Given the description of an element on the screen output the (x, y) to click on. 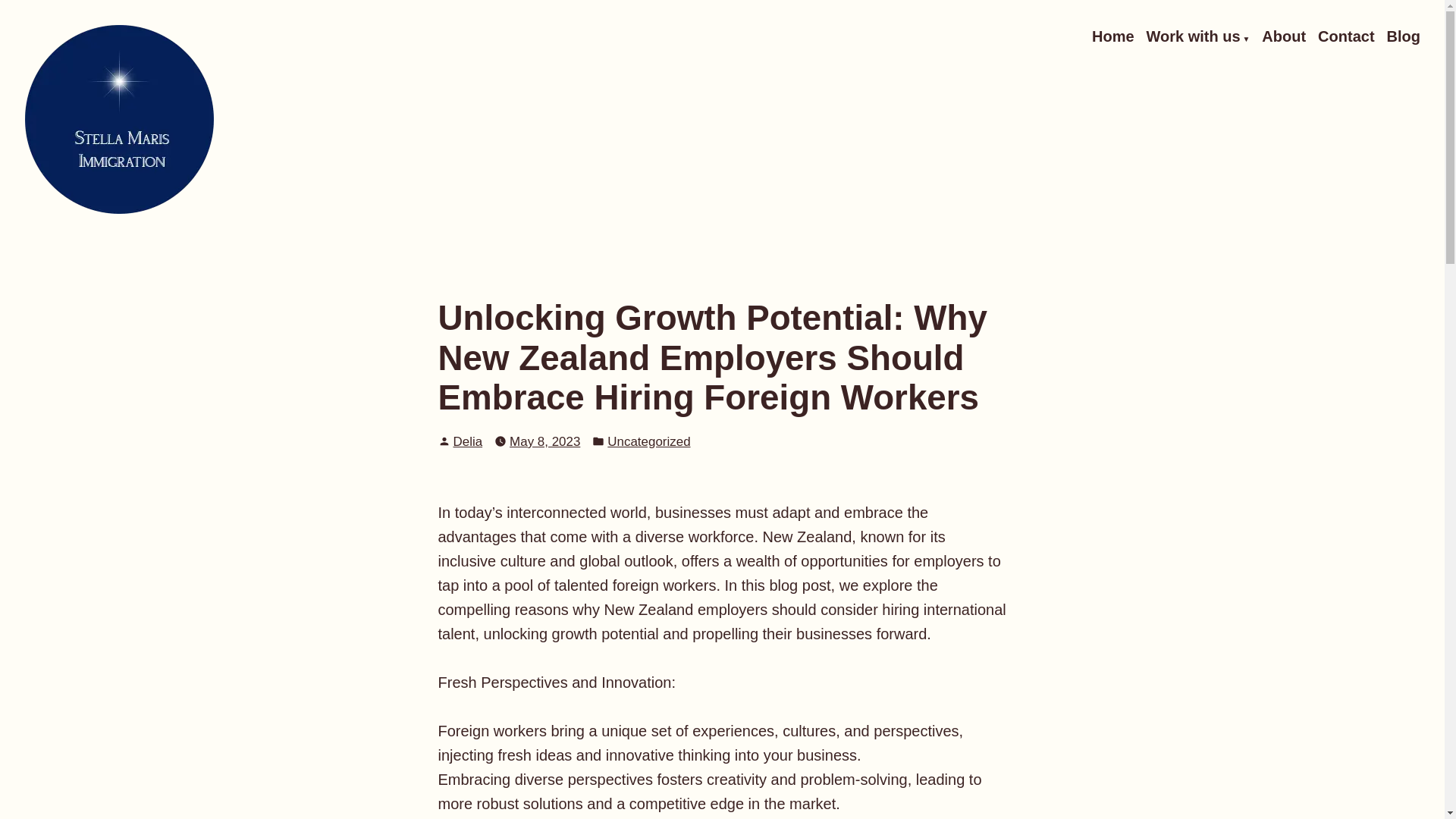
Delia (467, 441)
Contact (1345, 37)
Home (1113, 37)
Uncategorized (648, 441)
May 8, 2023 (544, 441)
About (1284, 37)
Blog (1404, 37)
Work with us (1198, 37)
Licensed New Zealand Immigration Adviser (256, 236)
